Given the description of an element on the screen output the (x, y) to click on. 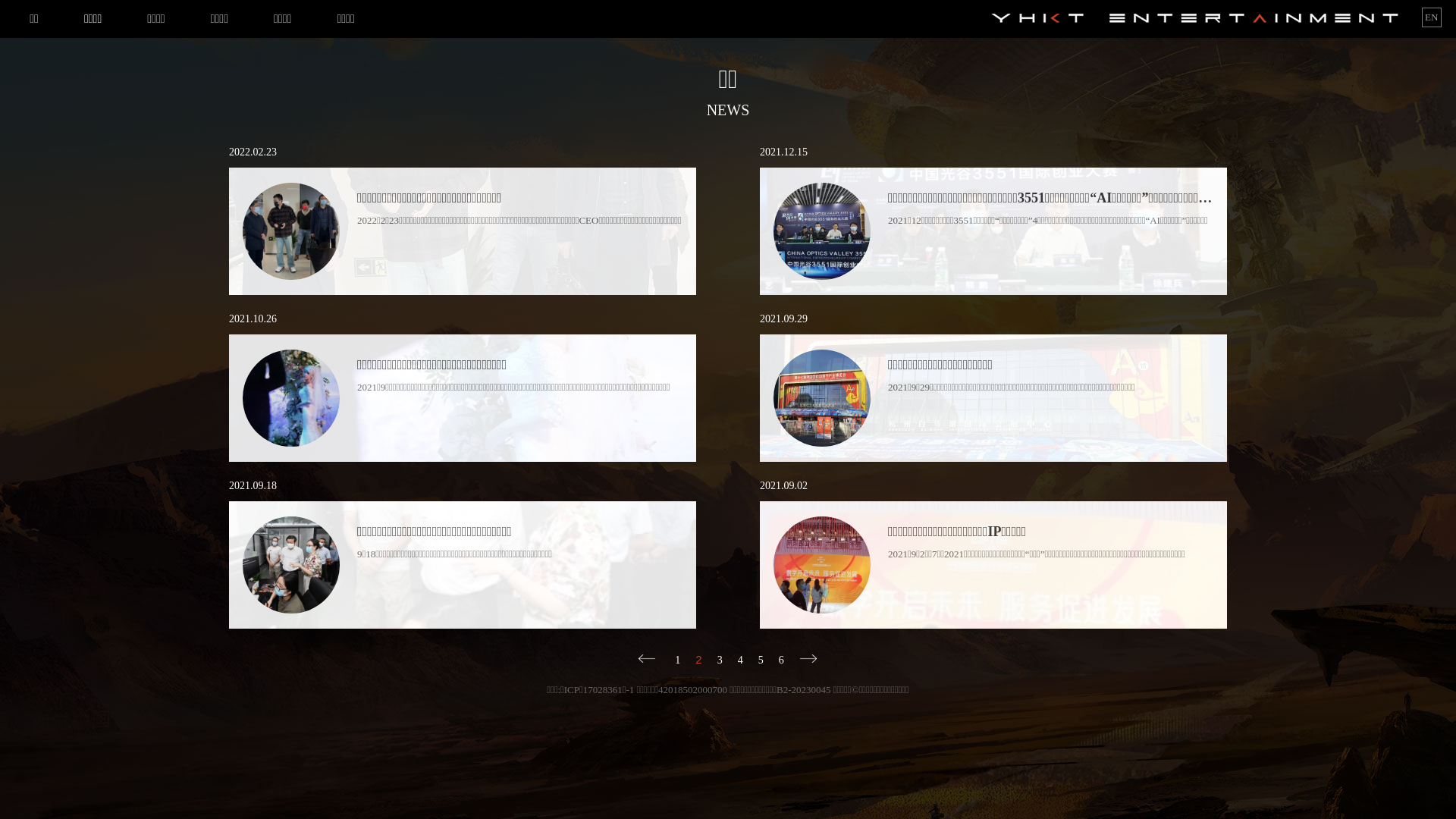
EN Element type: text (1431, 17)
1 Element type: text (677, 660)
5 Element type: text (760, 660)
4 Element type: text (740, 660)
6 Element type: text (781, 660)
3 Element type: text (719, 660)
